Given the description of an element on the screen output the (x, y) to click on. 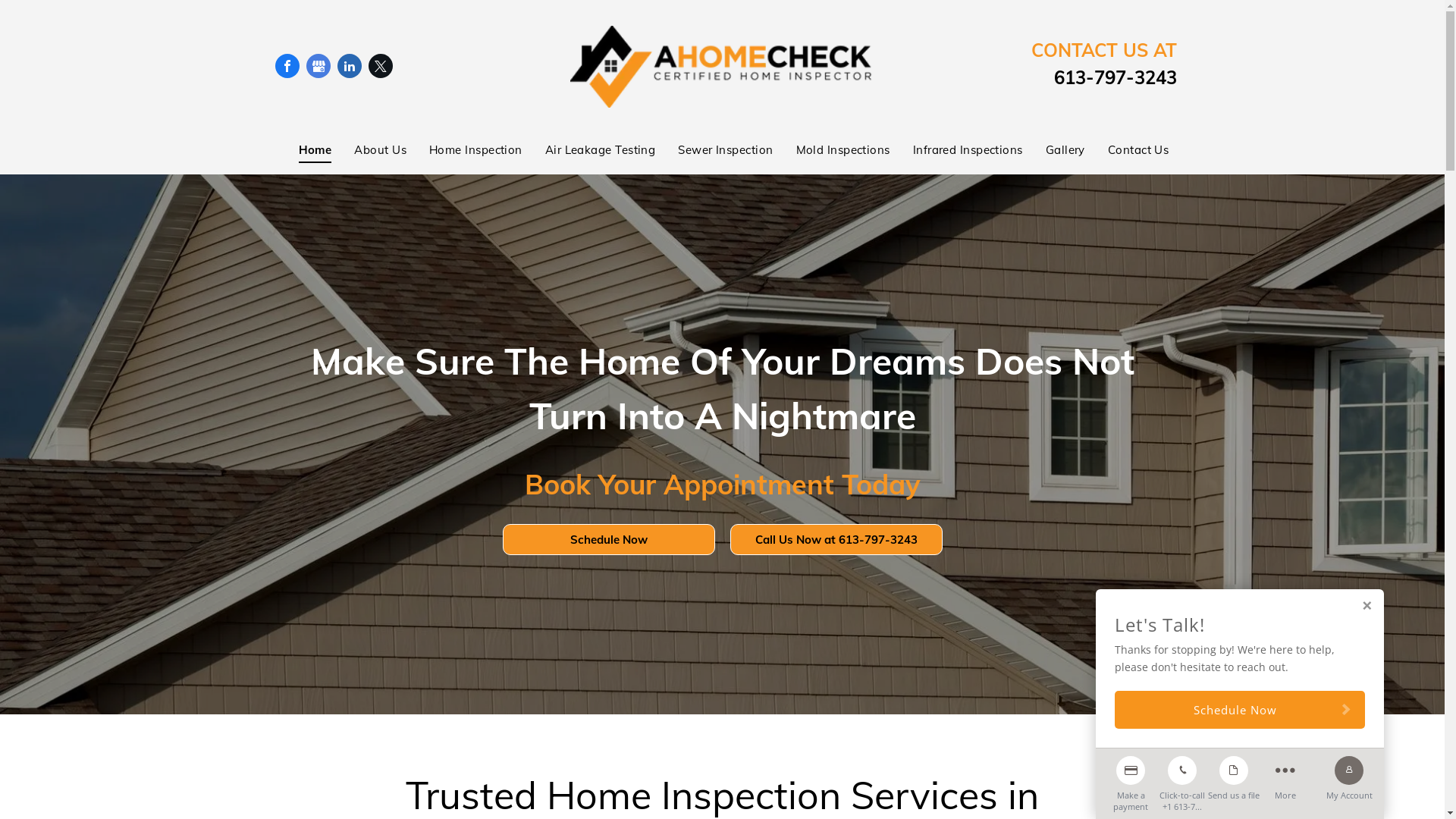
Call Us Now at 613-797-3243 Element type: text (835, 539)
Schedule Now Element type: text (608, 539)
My Account Element type: text (1348, 774)
Home Element type: text (304, 150)
Air Leakage Testing Element type: text (588, 150)
Send us a file Element type: text (1233, 774)
Contact Us Element type: text (1127, 150)
Mold Inspections Element type: text (831, 150)
About Us Element type: text (368, 150)
Infrared Inspections Element type: text (956, 150)
Gallery Element type: text (1053, 150)
Sewer Inspection Element type: text (713, 150)
Make a payment Element type: text (1130, 780)
Home Inspection Element type: text (464, 150)
613-797-3243 Element type: text (1115, 76)
A Home Check Home Inspection Element type: hover (721, 66)
Click-to-call +1 613-7... Element type: text (1182, 780)
Schedule Now Element type: text (1239, 709)
